Given the description of an element on the screen output the (x, y) to click on. 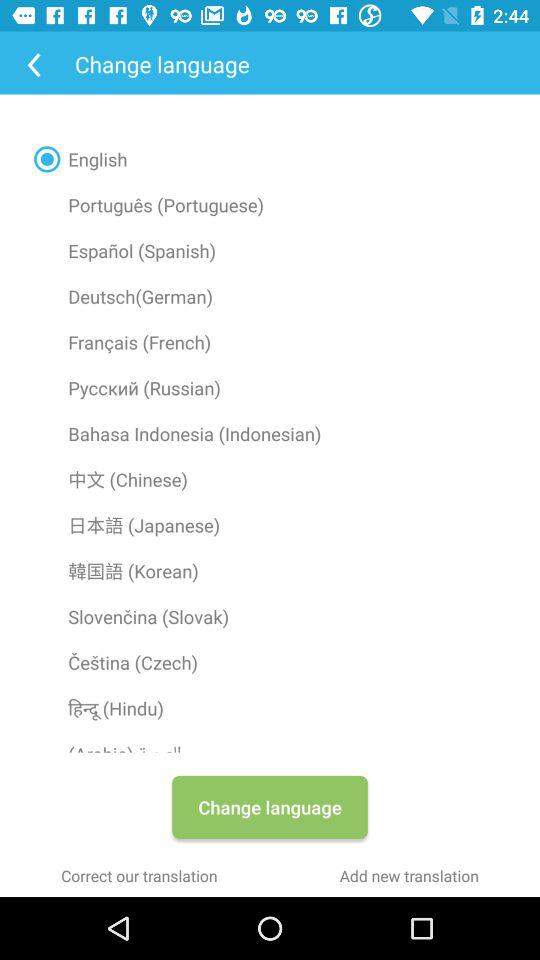
jump until the deutsch(german) item (269, 296)
